Given the description of an element on the screen output the (x, y) to click on. 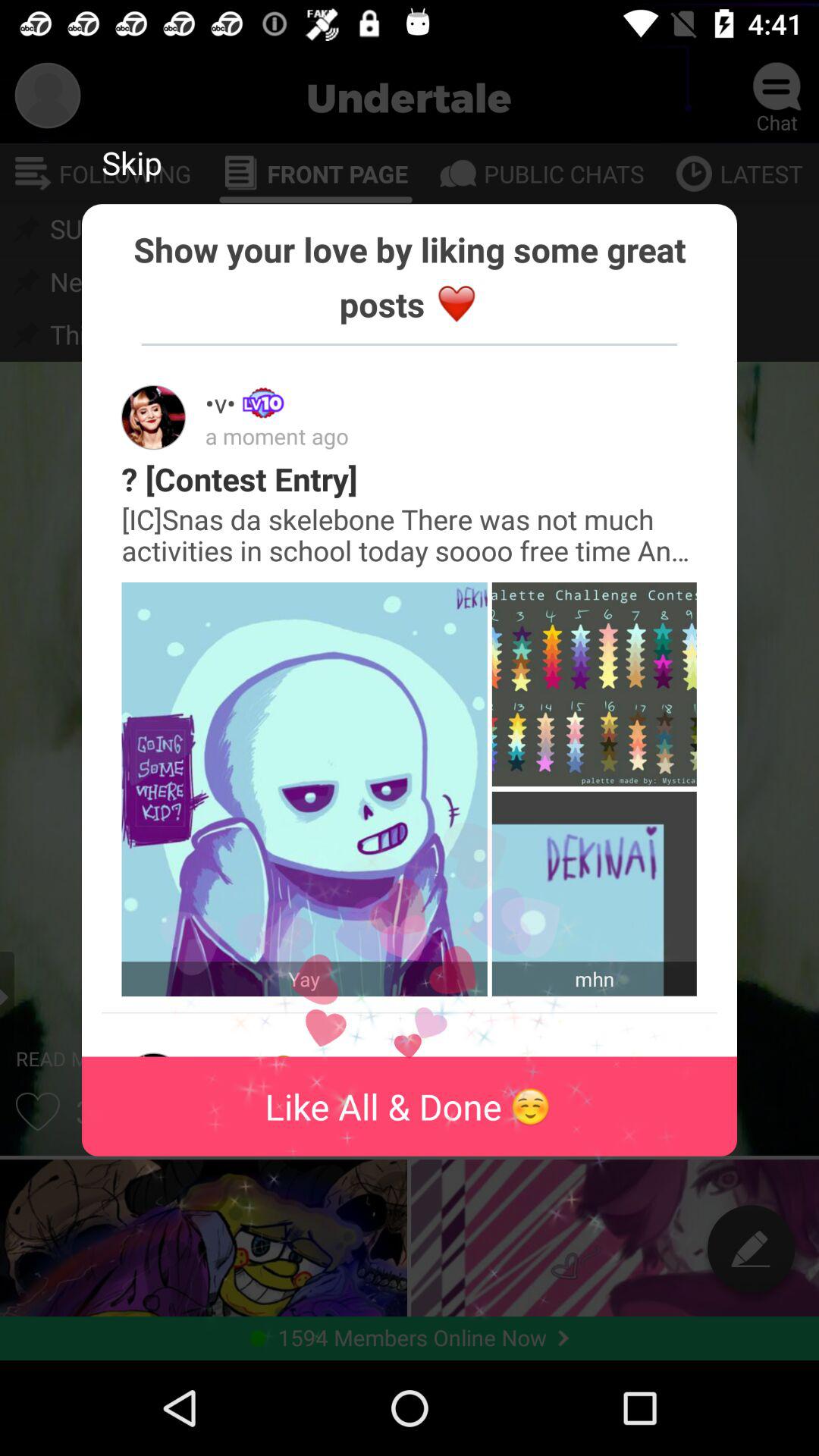
select the favourite icon which is on the left side of the page (37, 1111)
select the edit icon which is at the bottom right corner of the page (751, 1248)
